Given the description of an element on the screen output the (x, y) to click on. 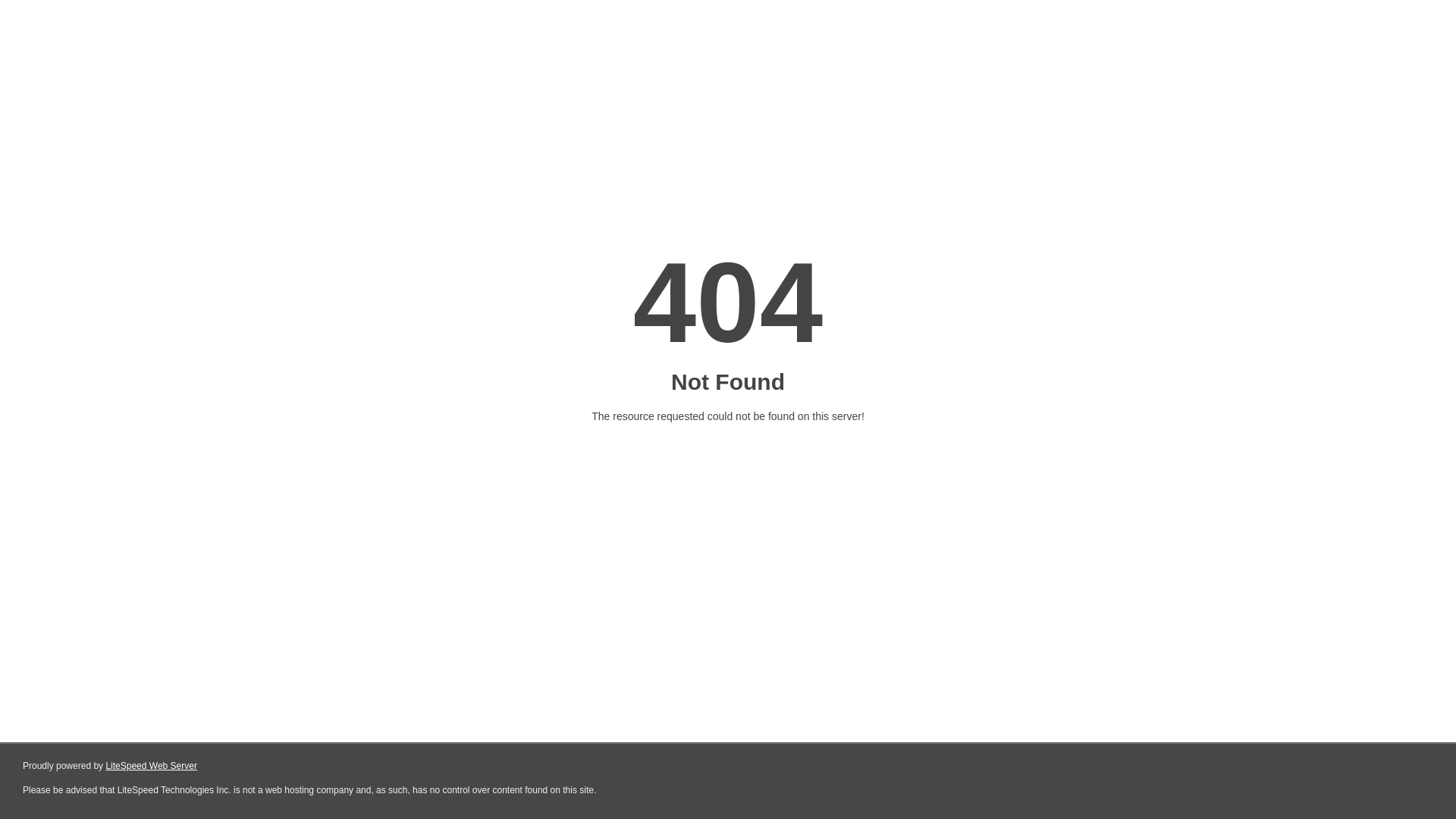
LiteSpeed Web Server Element type: text (151, 765)
